Given the description of an element on the screen output the (x, y) to click on. 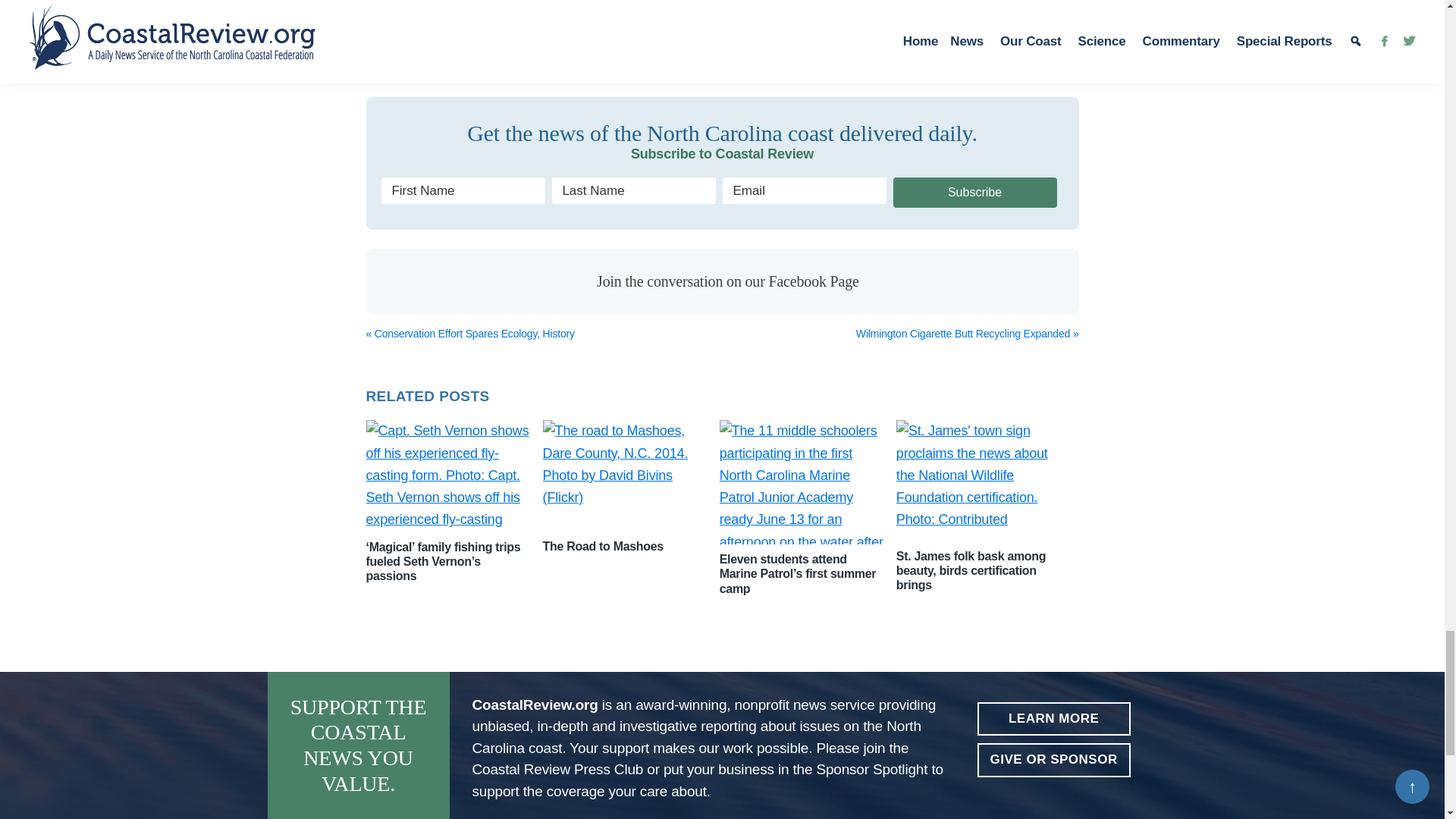
Subscribe (975, 192)
